Given the description of an element on the screen output the (x, y) to click on. 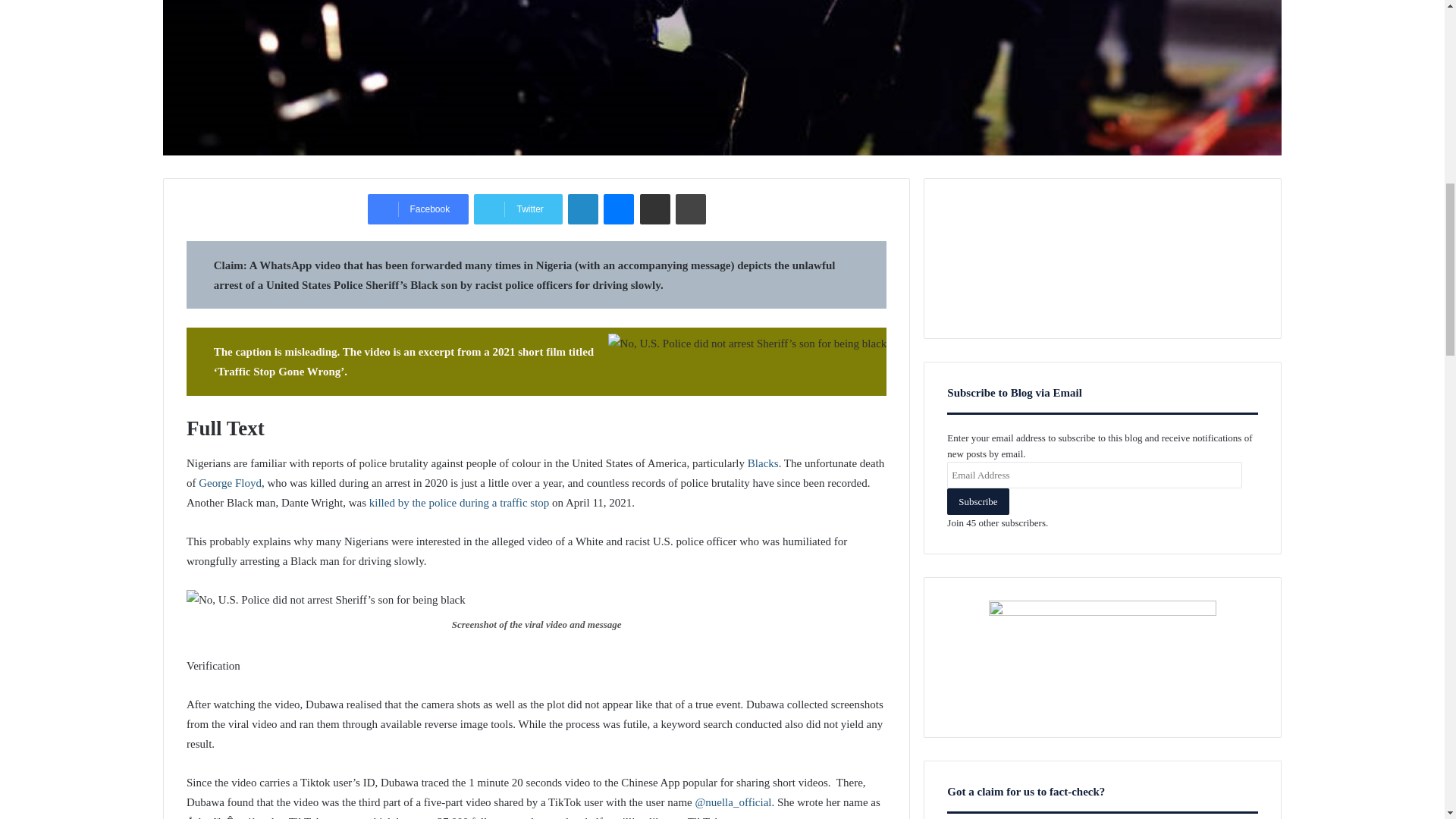
LinkedIn (582, 209)
Messenger (618, 209)
Twitter (518, 209)
Share via Email (654, 209)
Facebook (418, 209)
